Given the description of an element on the screen output the (x, y) to click on. 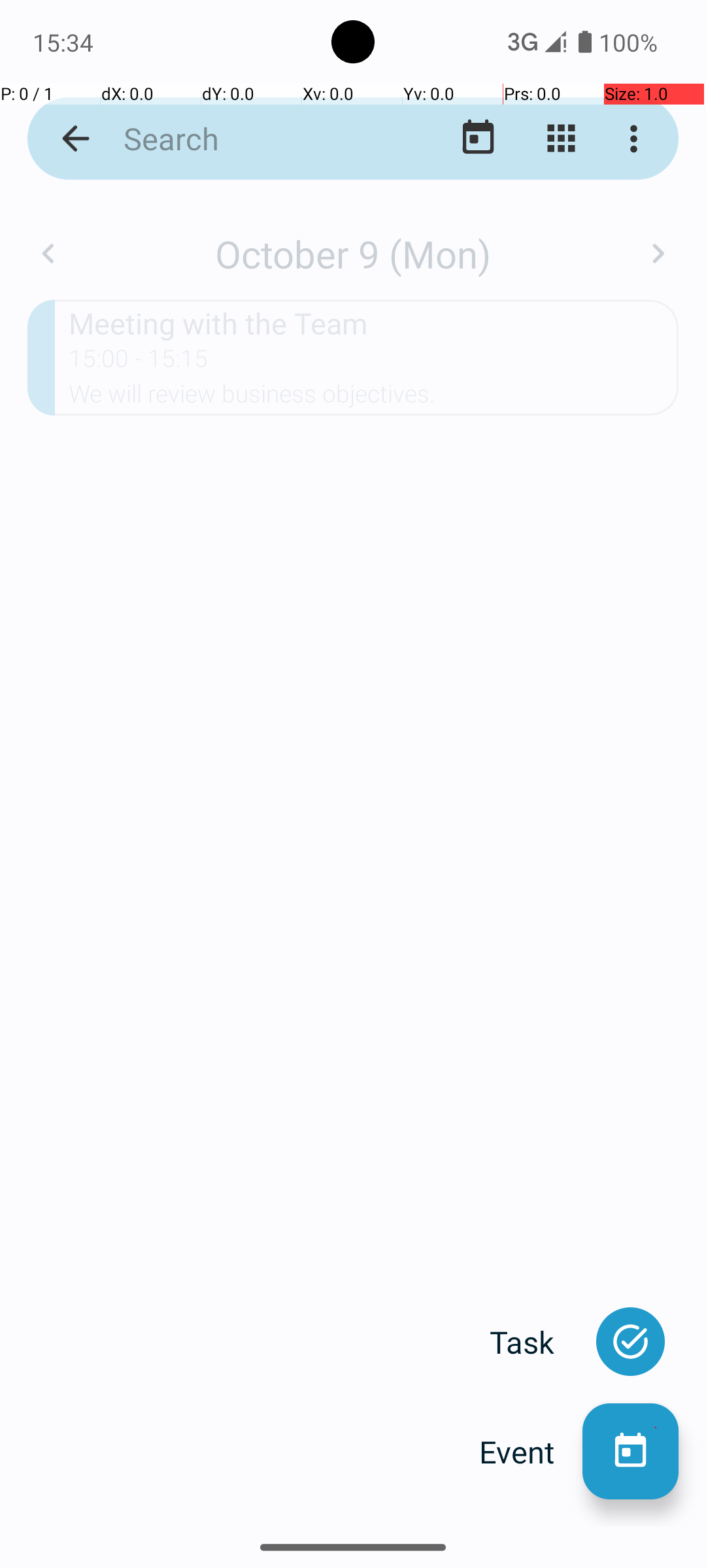
Task Element type: android.widget.TextView (535, 1341)
Event Element type: android.widget.TextView (530, 1451)
October 9 (Mon) Element type: android.widget.TextView (352, 253)
Meeting with the Team Element type: android.widget.TextView (373, 321)
15:00 - 15:15 Element type: android.widget.TextView (137, 362)
We will review business objectives. Element type: android.widget.TextView (373, 397)
